Given the description of an element on the screen output the (x, y) to click on. 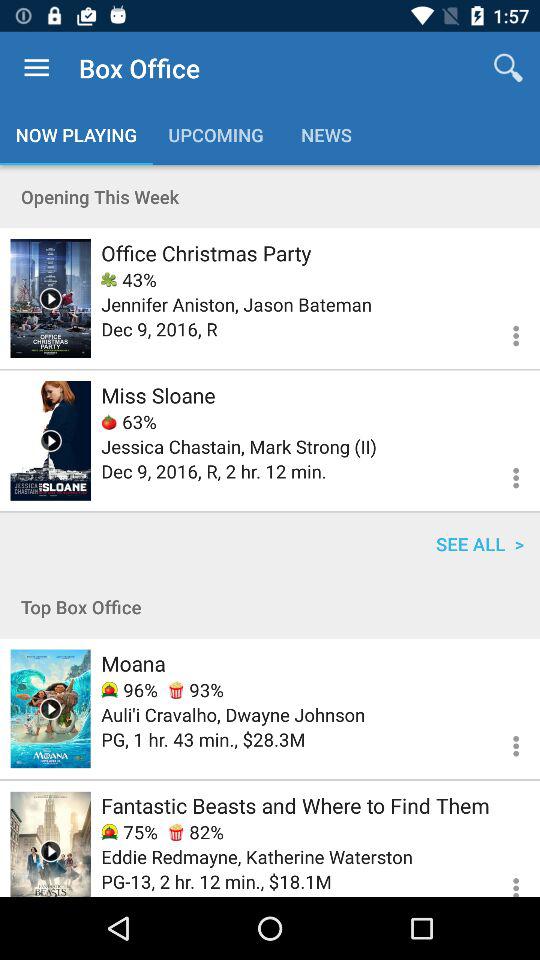
select movie to play (50, 298)
